Given the description of an element on the screen output the (x, y) to click on. 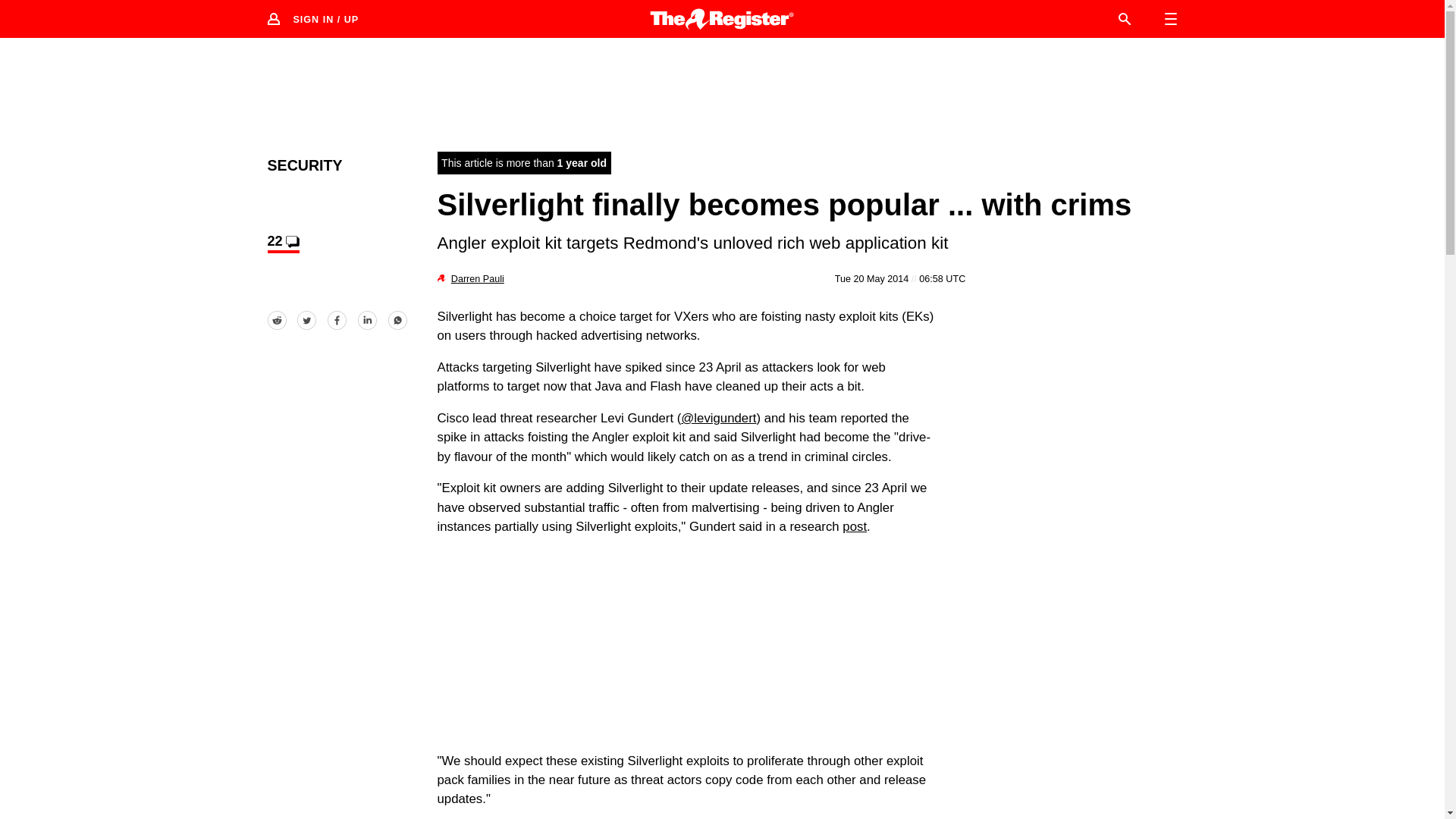
View comments on this article (282, 243)
Read more by this author (477, 278)
